Given the description of an element on the screen output the (x, y) to click on. 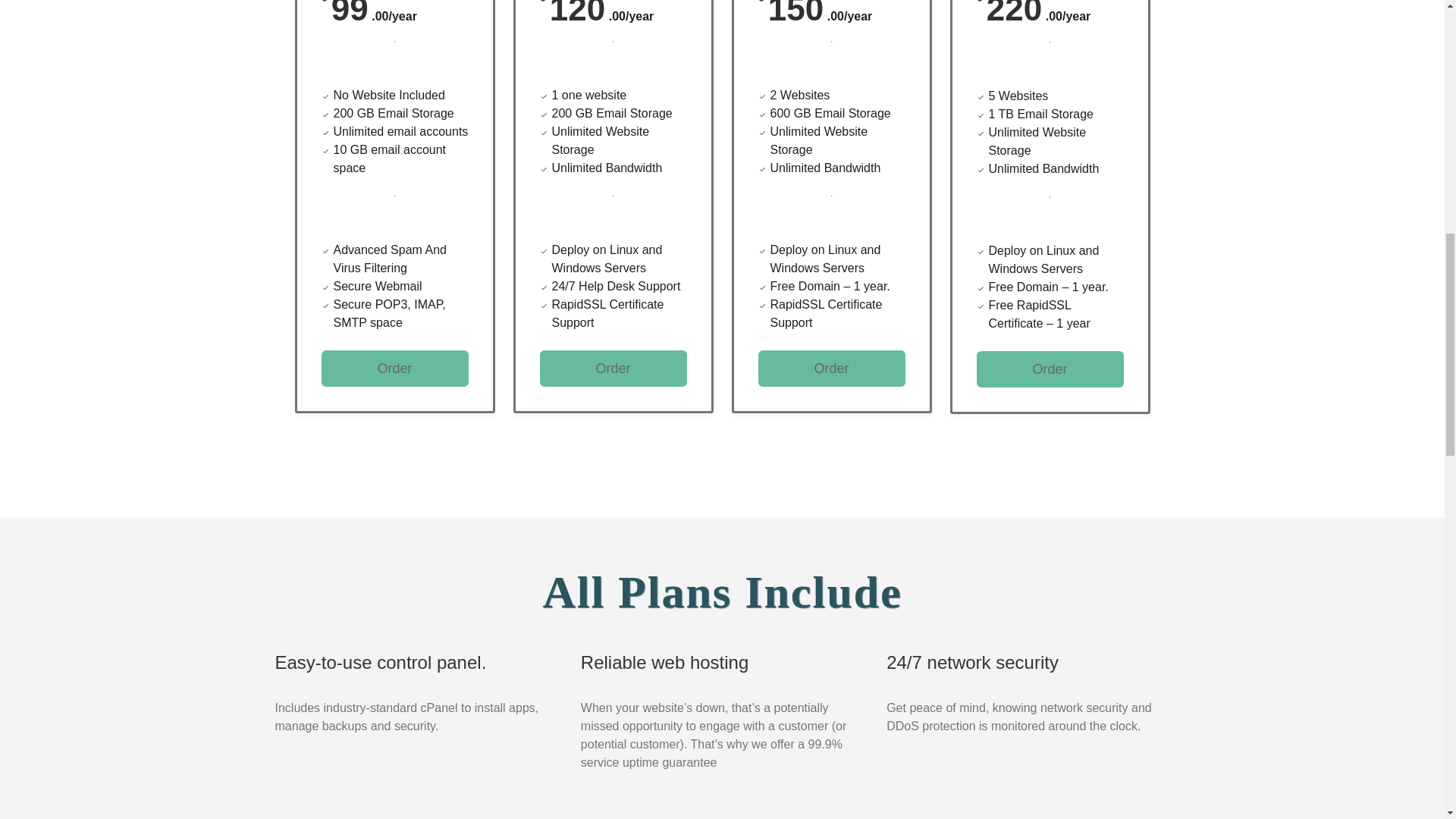
Order (394, 368)
Orders (394, 368)
orders (1050, 369)
Order (1050, 369)
Order (613, 368)
orders (831, 368)
orders (613, 368)
Order (831, 368)
